Given the description of an element on the screen output the (x, y) to click on. 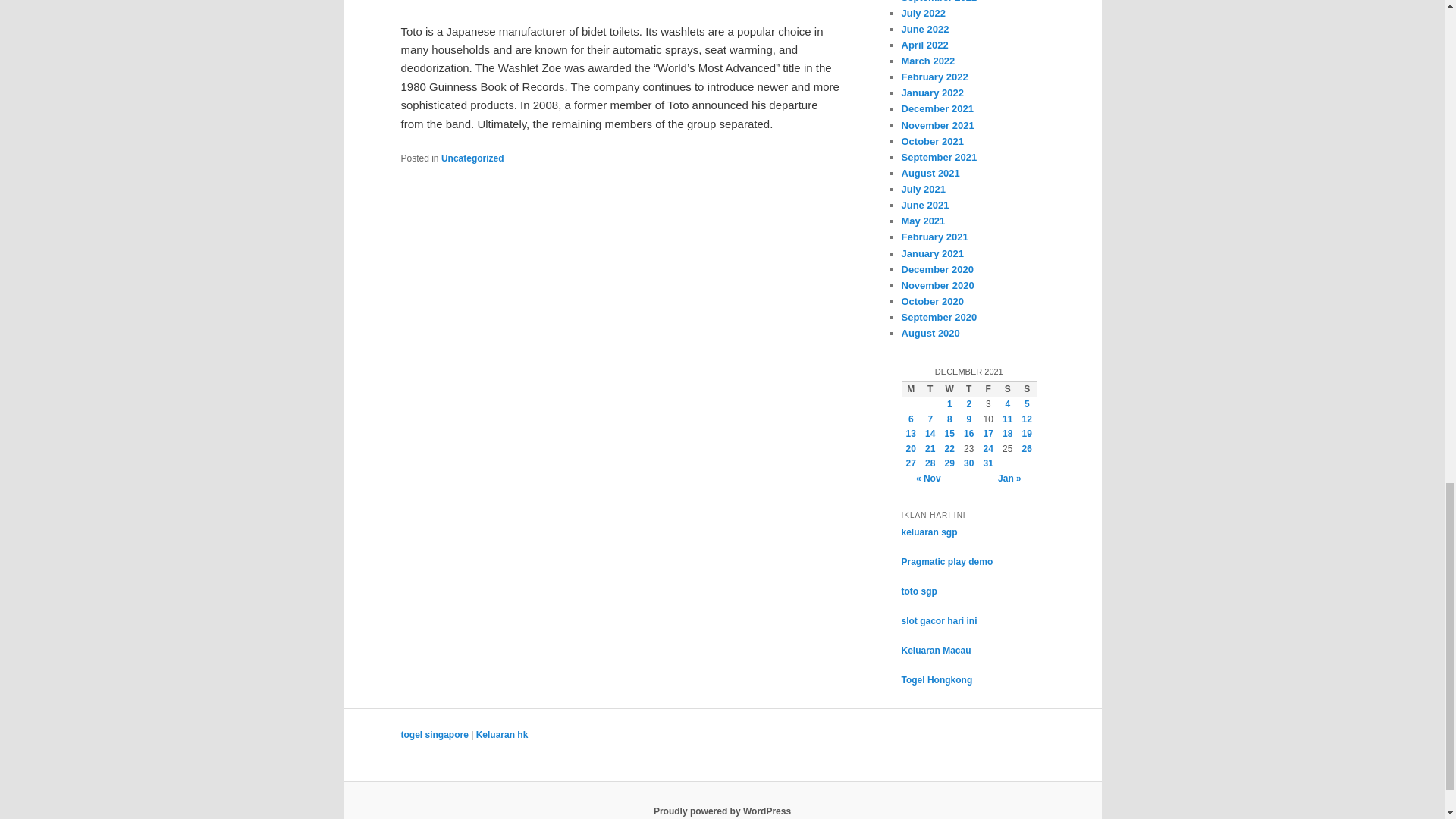
Semantic Personal Publishing Platform (721, 810)
Sunday (1026, 389)
Saturday (1007, 389)
Monday (910, 389)
Friday (987, 389)
Wednesday (949, 389)
Uncategorized (472, 158)
Thursday (968, 389)
Tuesday (930, 389)
